Given the description of an element on the screen output the (x, y) to click on. 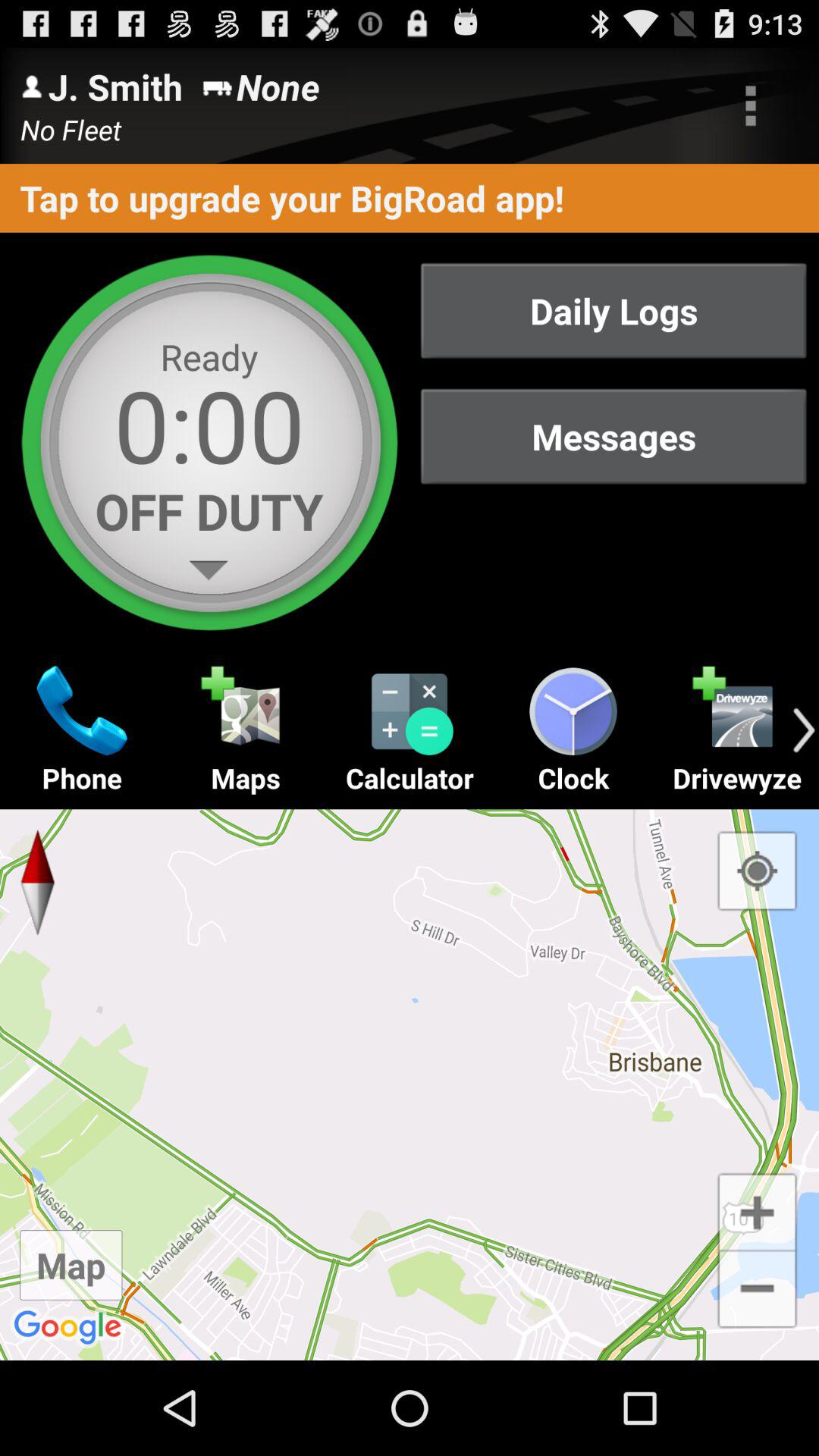
select the daily logs button (613, 310)
